Given the description of an element on the screen output the (x, y) to click on. 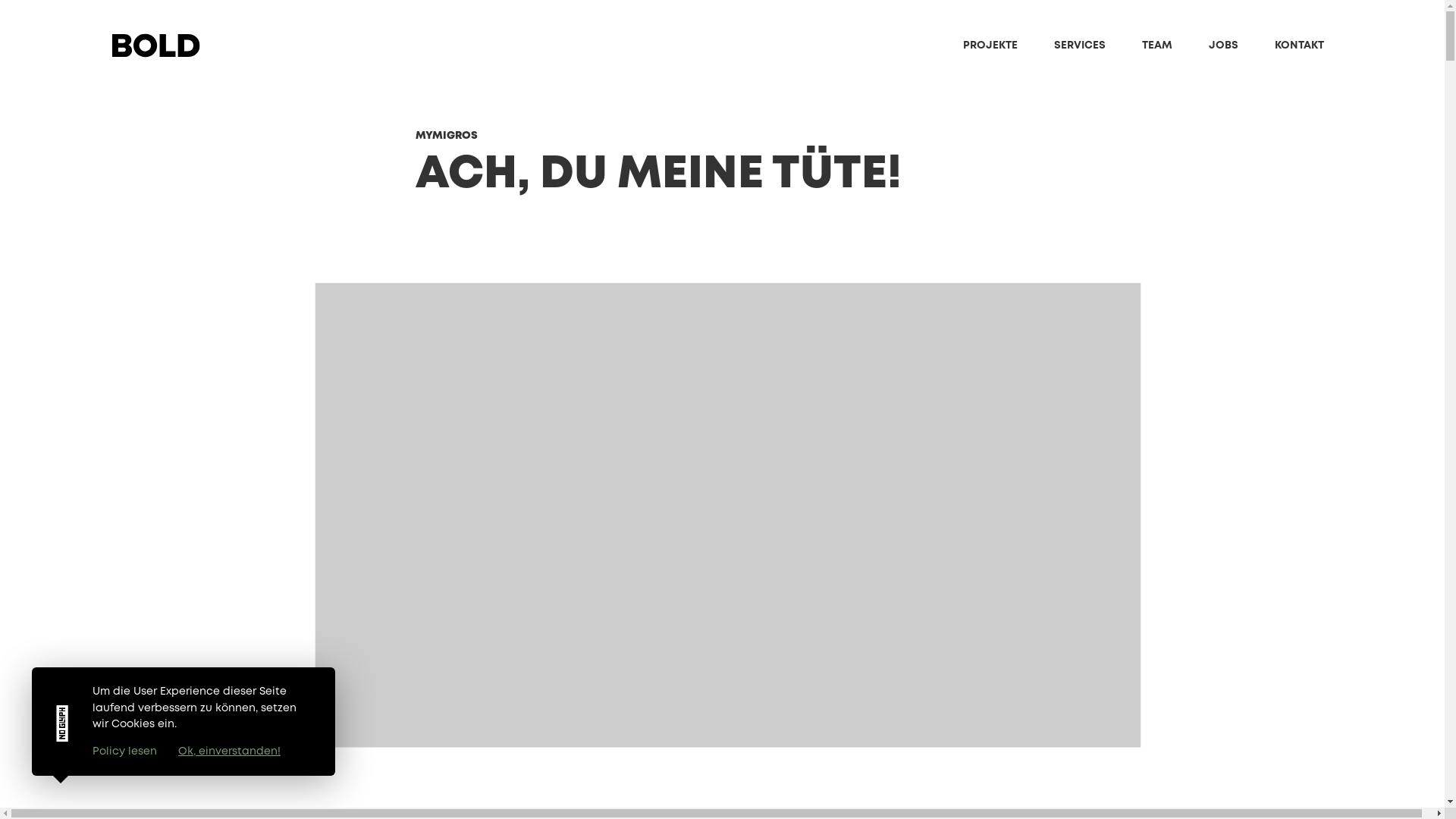
Policy lesen Element type: text (124, 751)
JOBS Element type: text (1223, 45)
Ok, einverstanden! Element type: text (229, 751)
PROJEKTE Element type: text (990, 45)
KONTAKT Element type: text (1299, 45)
TEAM Element type: text (1157, 45)
SERVICES Element type: text (1079, 45)
